Given the description of an element on the screen output the (x, y) to click on. 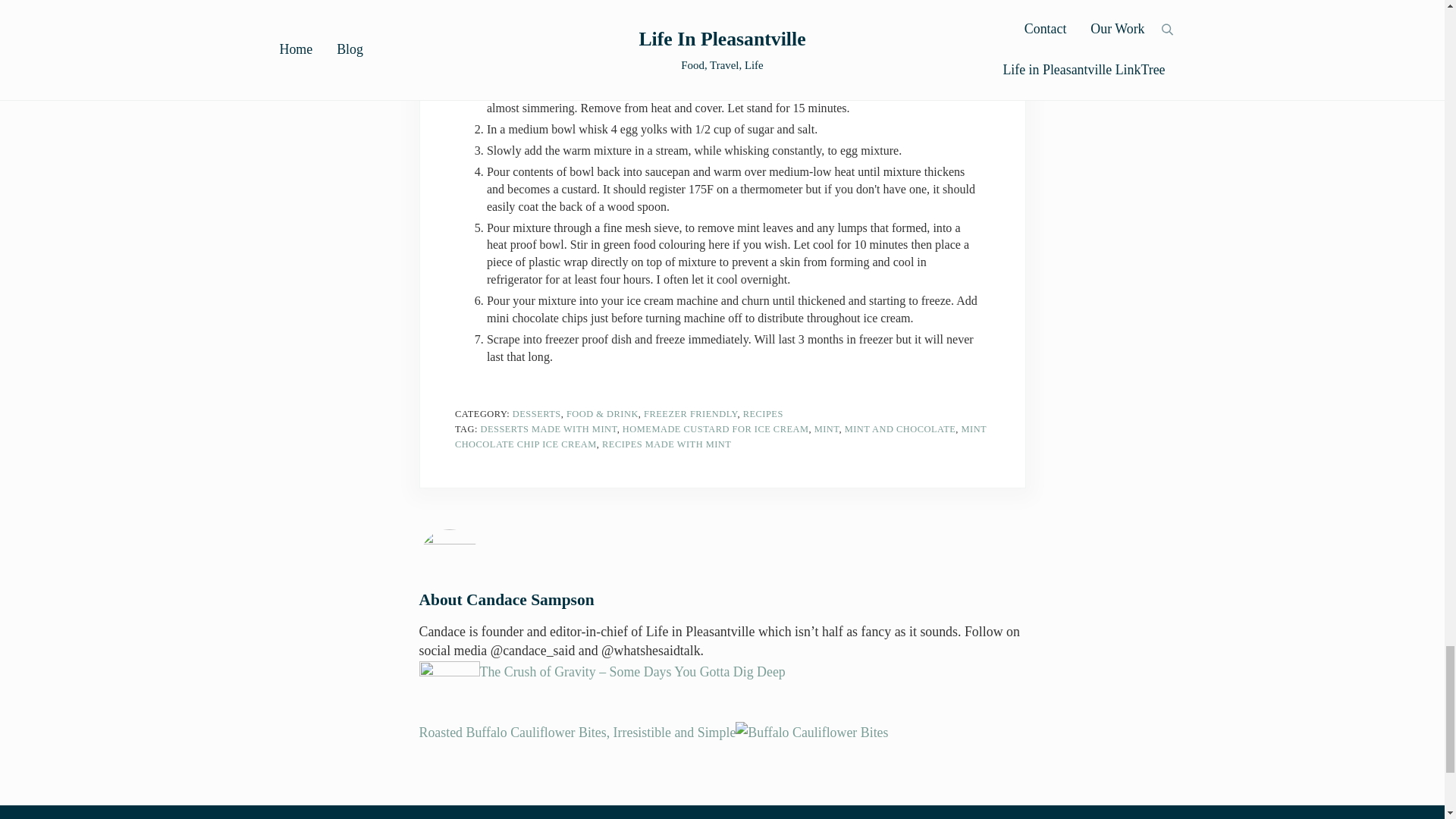
RECIPES MADE WITH MINT (666, 443)
kosher salt (548, 0)
DESSERTS (536, 413)
MINT (826, 429)
DESSERTS MADE WITH MINT (547, 429)
MINT CHOCOLATE CHIP ICE CREAM (720, 436)
FREEZER FRIENDLY (689, 413)
MINT AND CHOCOLATE (900, 429)
HOMEMADE CUSTARD FOR ICE CREAM (716, 429)
